Given the description of an element on the screen output the (x, y) to click on. 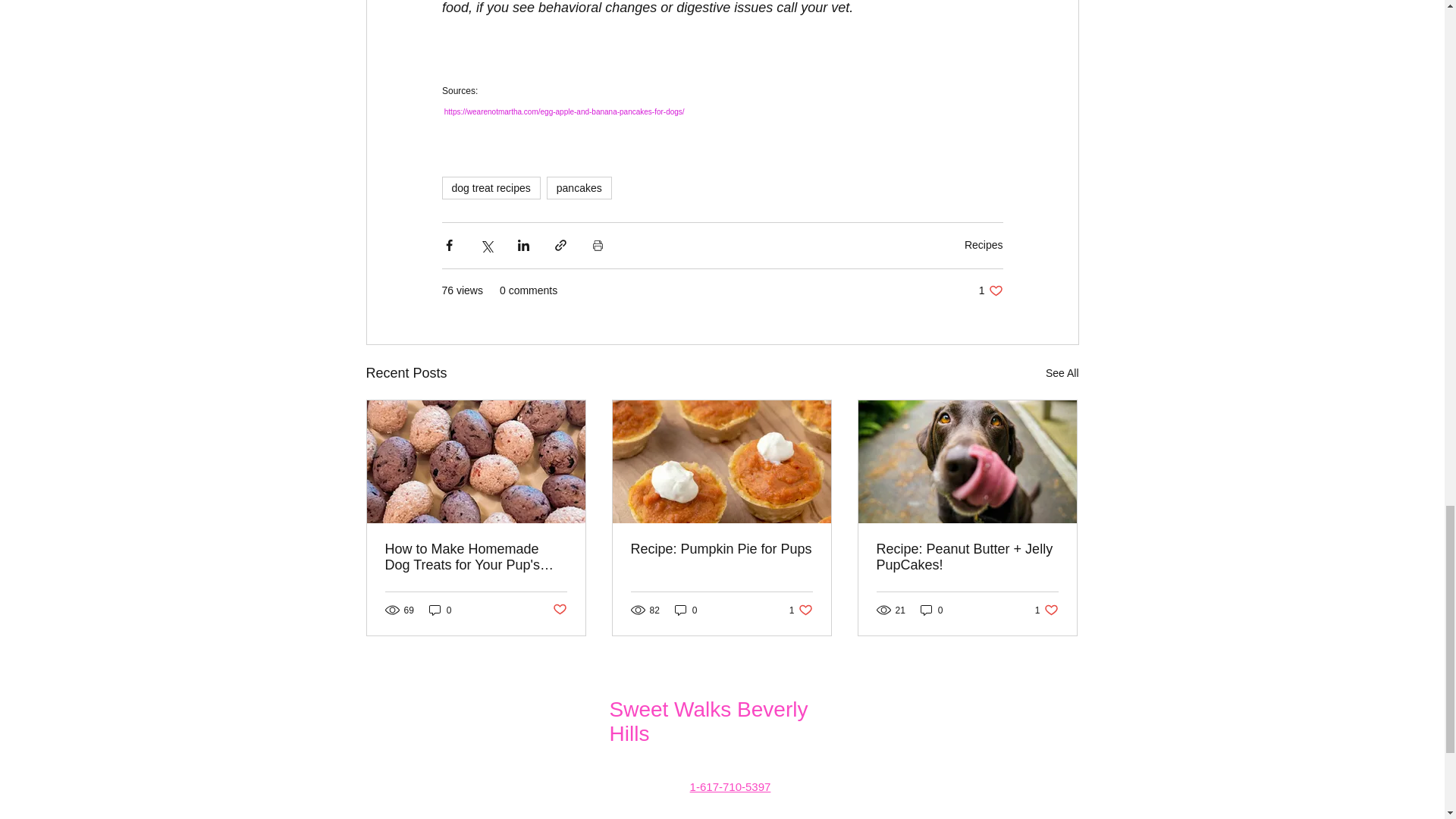
See All (1061, 373)
Recipe: Pumpkin Pie for Pups (721, 549)
pancakes (579, 187)
Recipes (800, 609)
Post not marked as liked (983, 244)
0 (558, 609)
dog treat recipes (931, 609)
0 (490, 187)
